Given the description of an element on the screen output the (x, y) to click on. 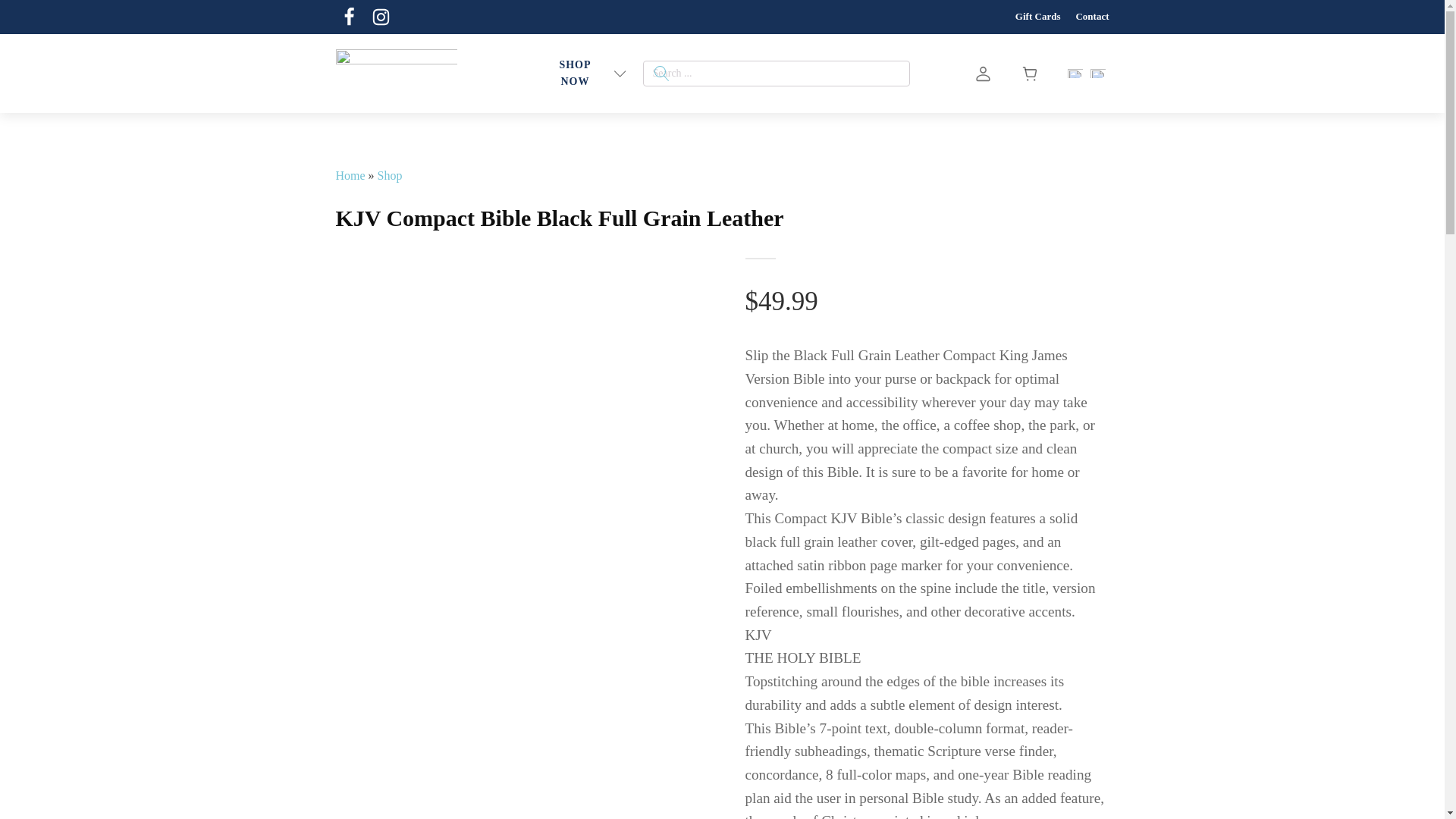
Contact (1091, 17)
Search (31, 13)
Shop (390, 174)
Gift Cards (1037, 17)
SHOP NOW (575, 74)
Home (349, 174)
Search for: (776, 73)
